Given the description of an element on the screen output the (x, y) to click on. 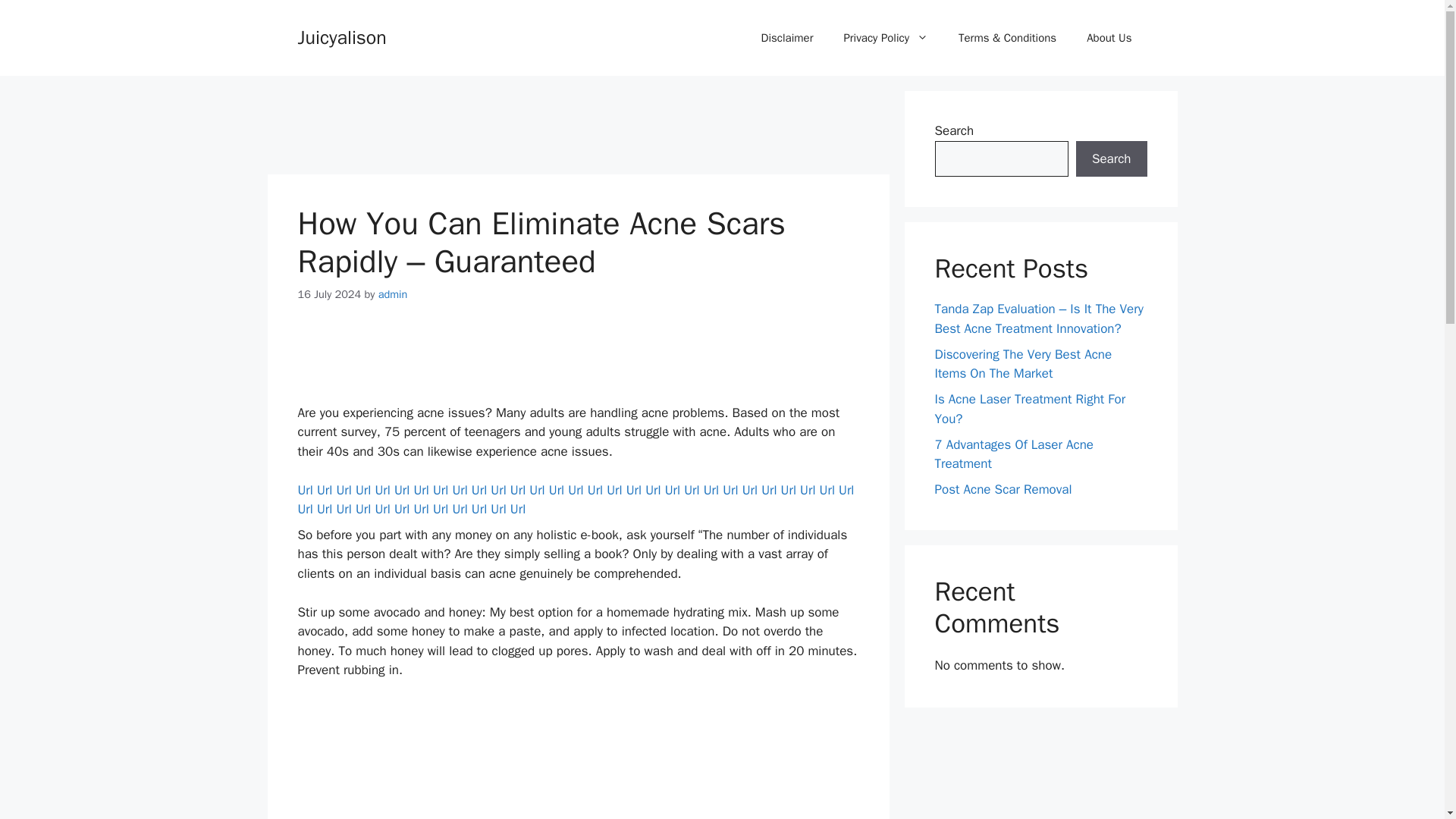
Url (634, 489)
Url (672, 489)
Disclaimer (786, 37)
Advertisement (577, 363)
Url (382, 489)
Url (575, 489)
Url (845, 489)
Url (420, 489)
Url (459, 489)
Url (440, 489)
Advertisement (577, 124)
Url (768, 489)
Privacy Policy (885, 37)
Url (401, 489)
Url (497, 489)
